Given the description of an element on the screen output the (x, y) to click on. 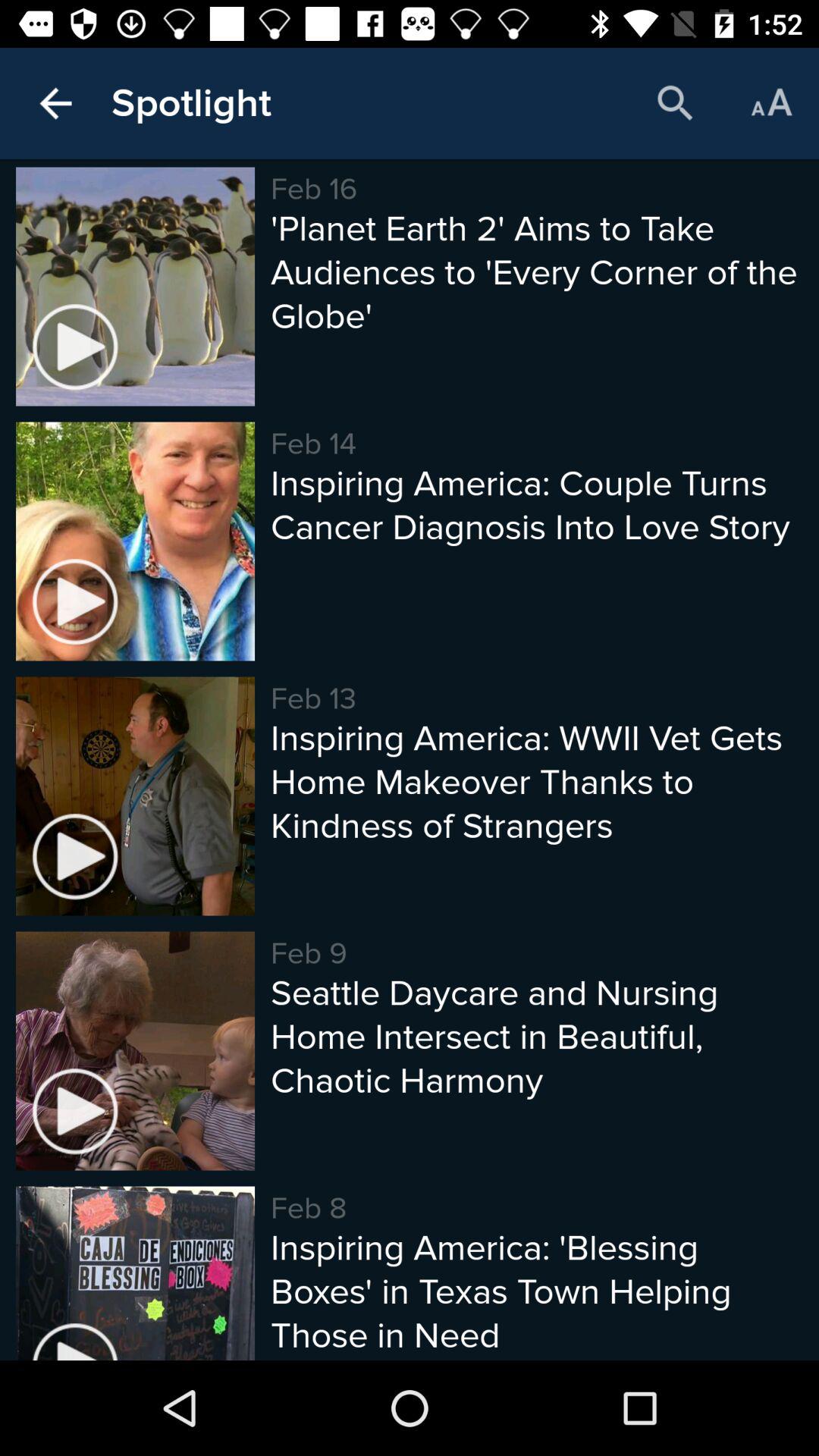
select spotlight (191, 103)
